Given the description of an element on the screen output the (x, y) to click on. 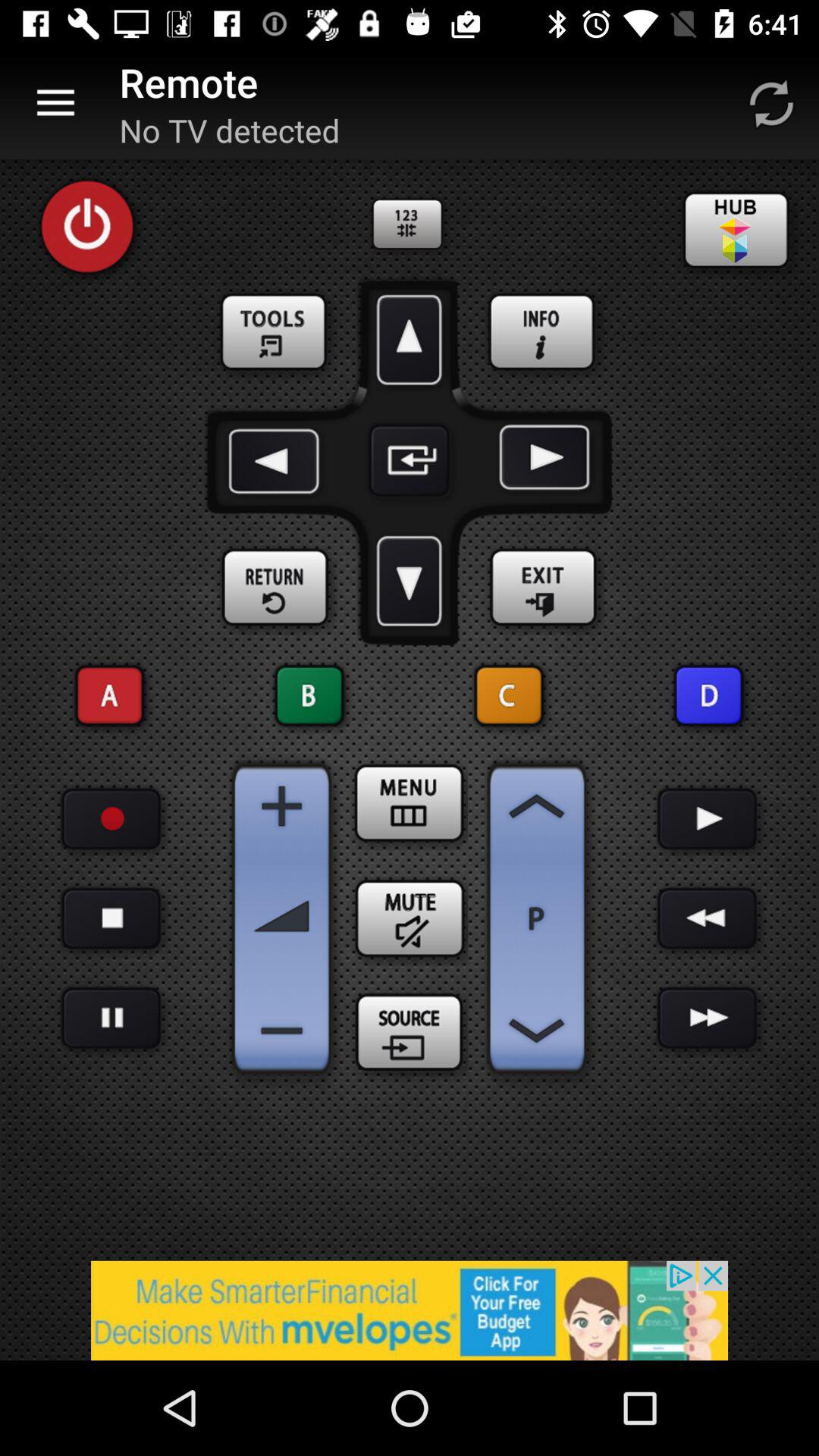
move forward (409, 339)
